Given the description of an element on the screen output the (x, y) to click on. 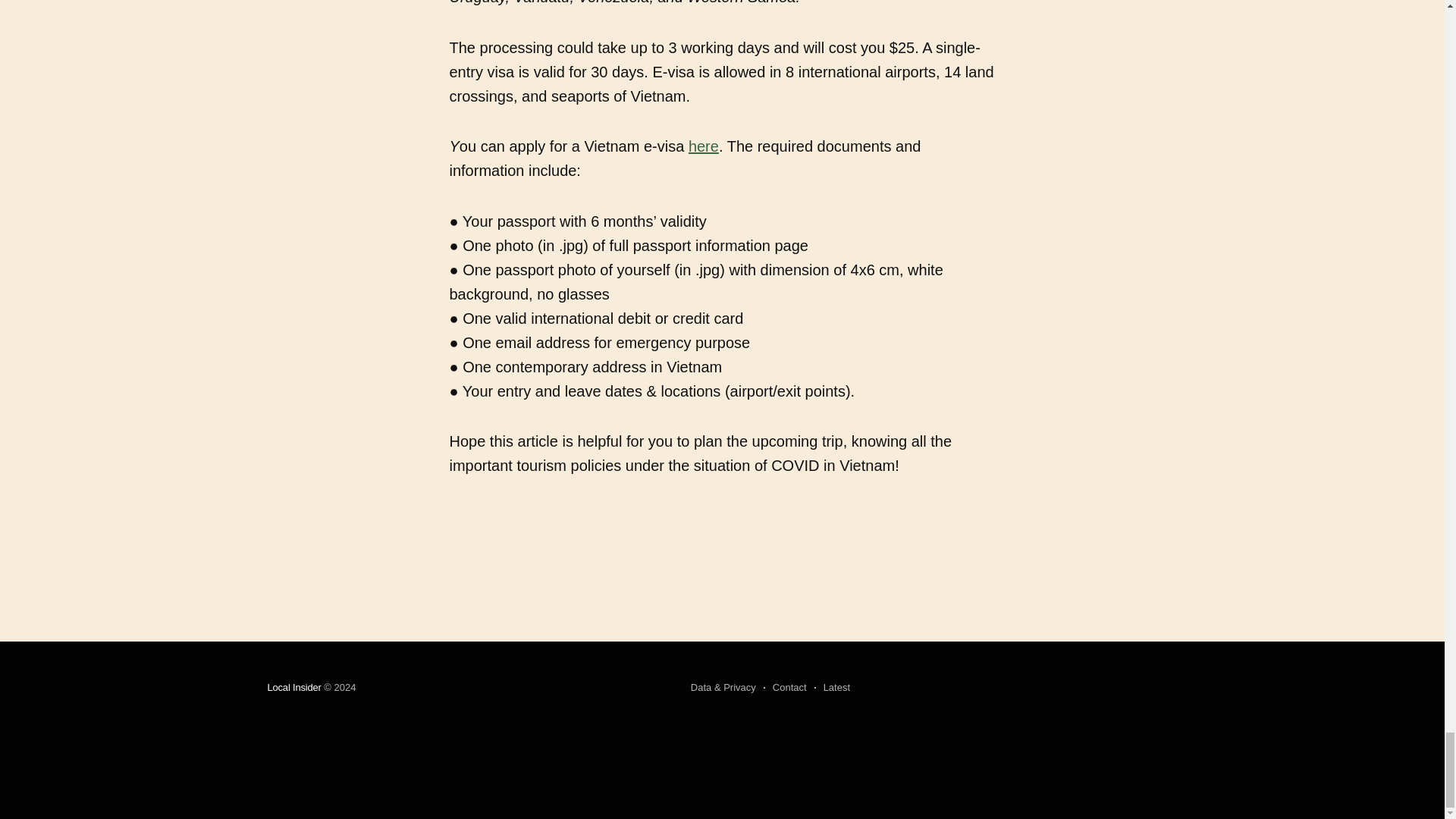
Contact (784, 687)
here (703, 146)
Local Insider (293, 686)
Latest (831, 687)
